Given the description of an element on the screen output the (x, y) to click on. 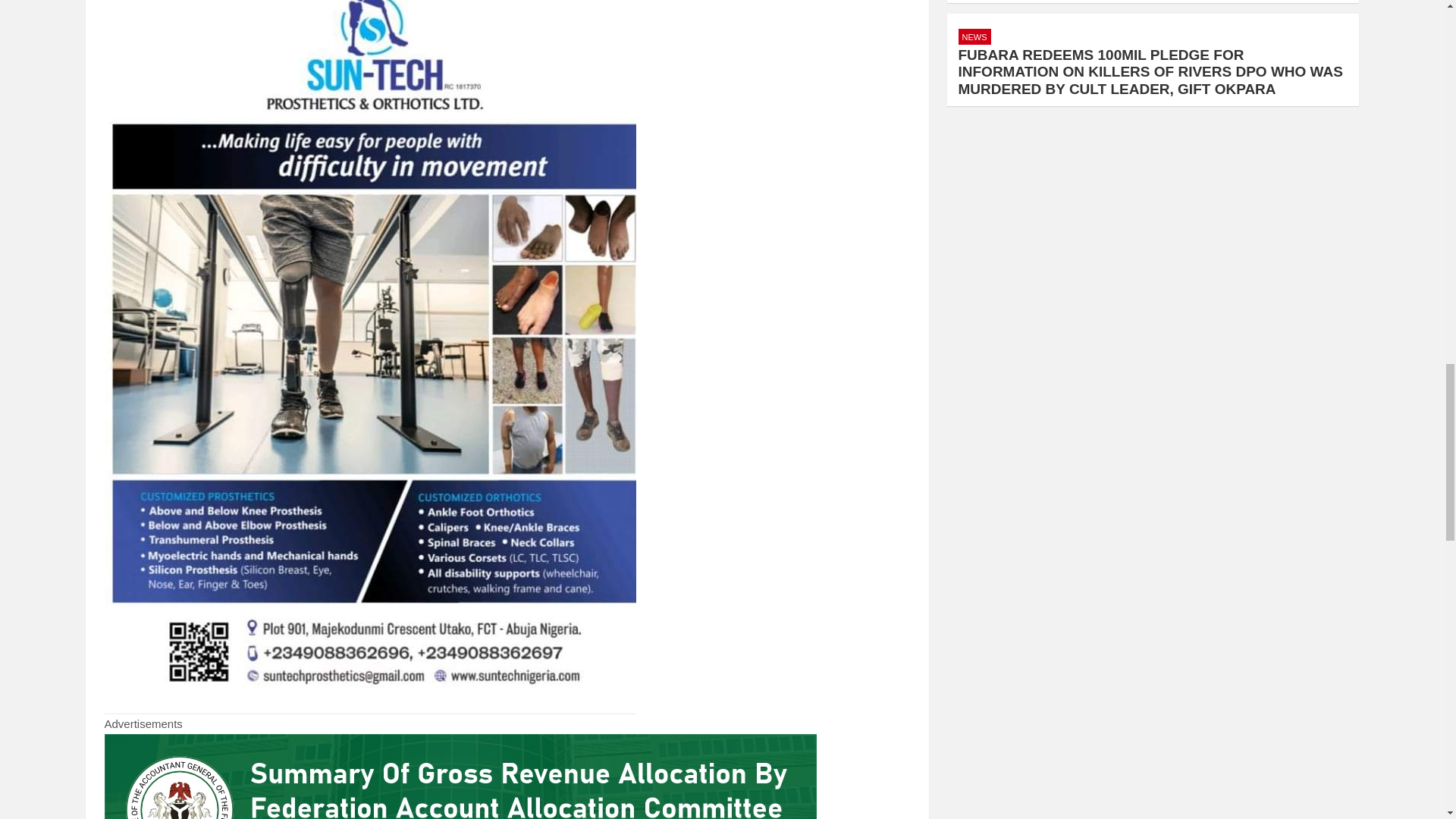
NEWS (974, 36)
